Given the description of an element on the screen output the (x, y) to click on. 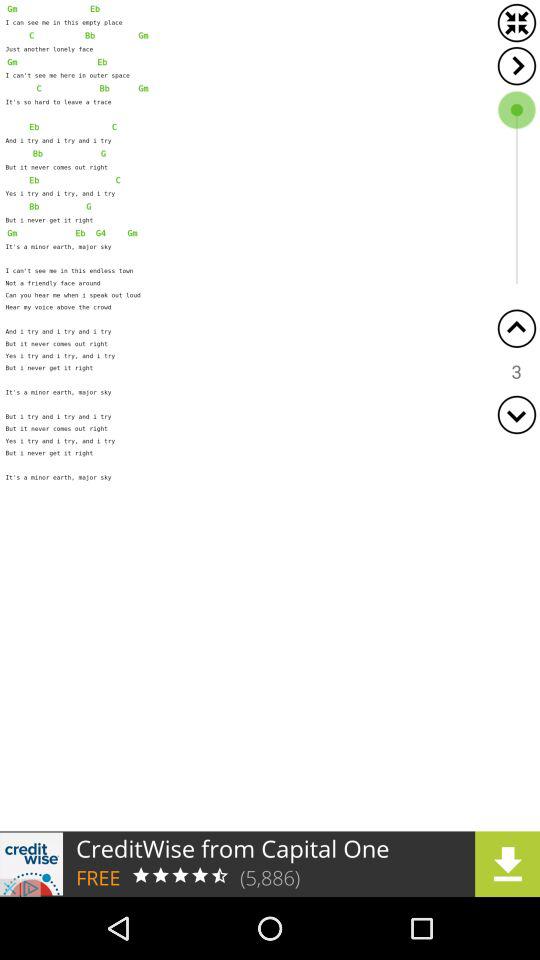
tap advertisement (270, 864)
